Given the description of an element on the screen output the (x, y) to click on. 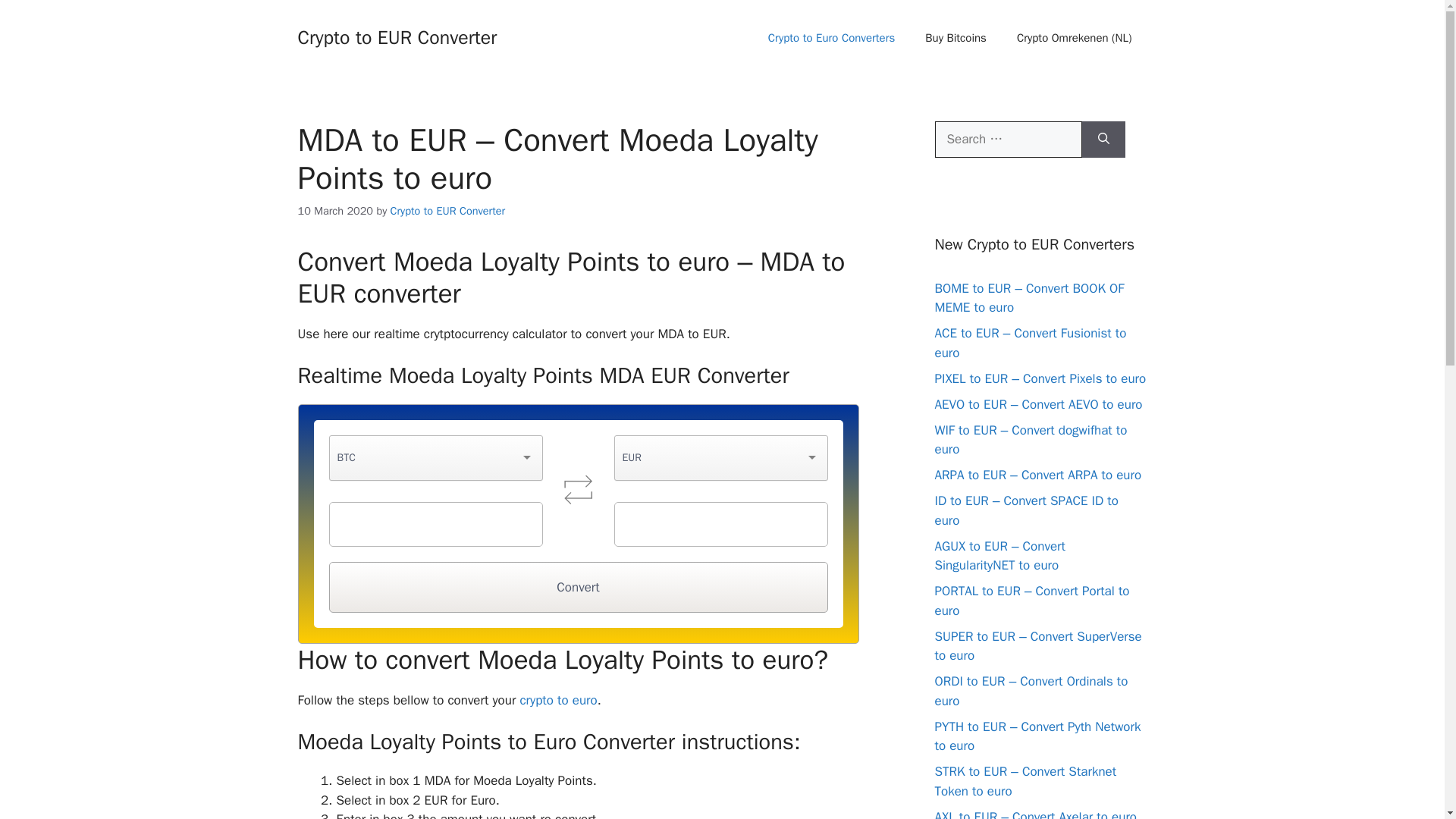
Buy Bitcoins (955, 37)
crypto to euro (557, 700)
MDA to EUR - Convert Moeda Loyalty Points to euro (577, 488)
Crypto to Euro Converters (831, 37)
Search for: (1007, 139)
Crypto to EUR Converter (447, 210)
Convert (578, 587)
Crypto to EUR Converter (396, 37)
View all posts by Crypto to EUR Converter (447, 210)
